Given the description of an element on the screen output the (x, y) to click on. 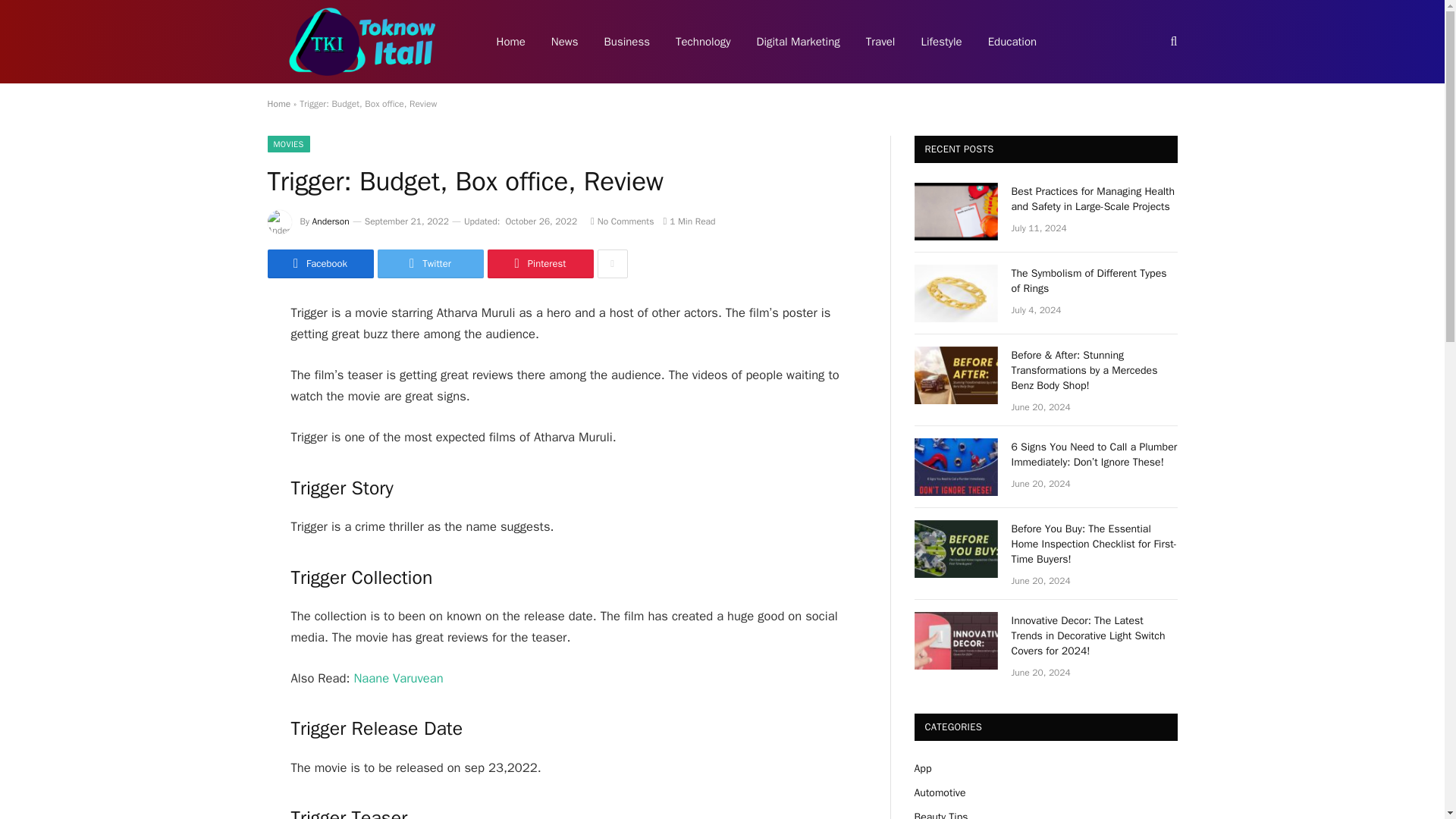
Twitter (430, 263)
No Comments (622, 221)
Digital Marketing (798, 41)
Home (277, 103)
Technology (703, 41)
Share on Facebook (319, 263)
Pinterest (539, 263)
Facebook (319, 263)
MOVIES (287, 143)
Naane Varuvean (397, 678)
Show More Social Sharing (611, 263)
Posts by Anderson (331, 221)
To Know It All: Latest Updates, News (361, 41)
Anderson (331, 221)
Education (1012, 41)
